Given the description of an element on the screen output the (x, y) to click on. 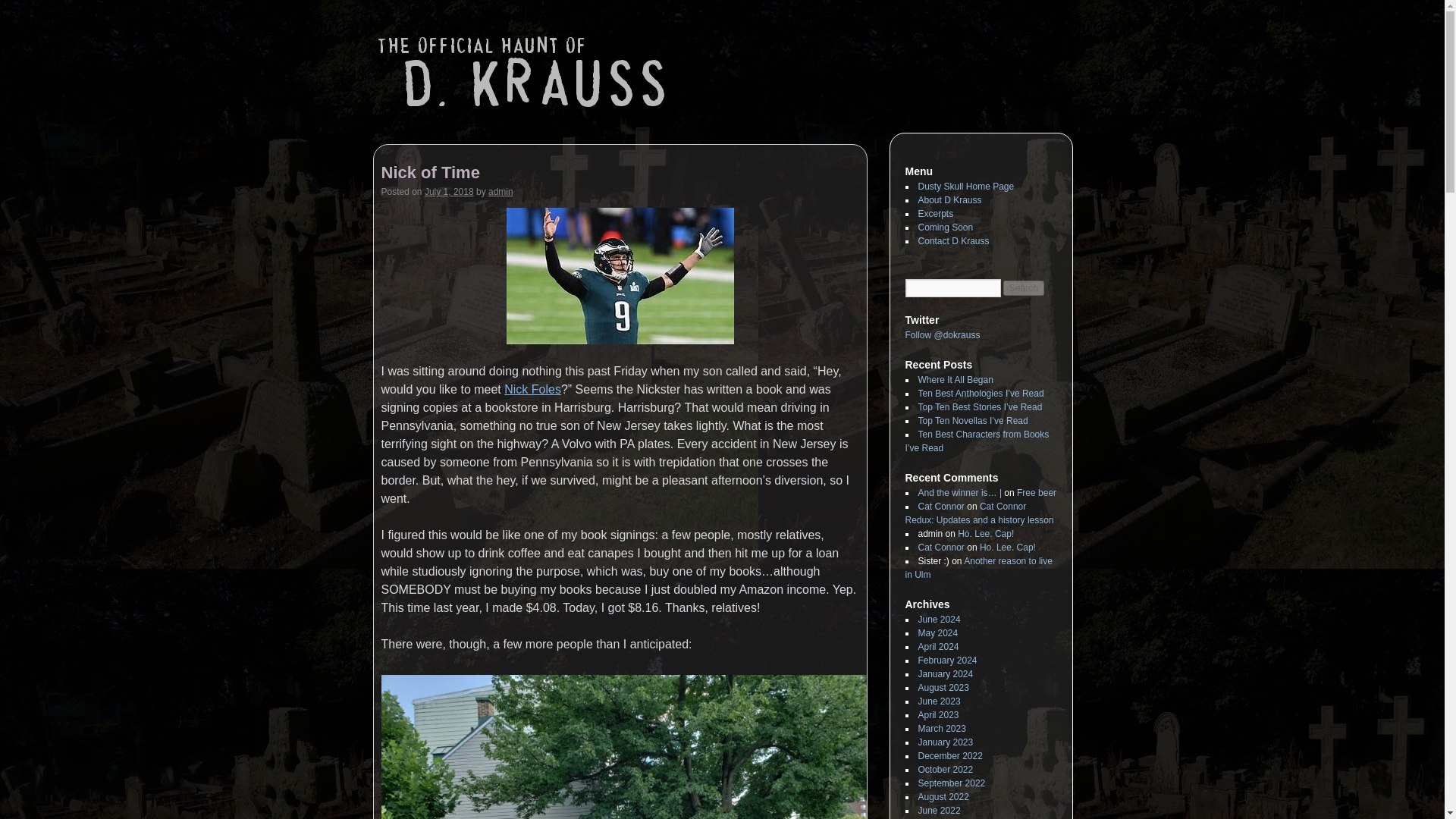
Coming Soon (944, 226)
Excerpts (935, 213)
11:25 pm (449, 191)
Search (1023, 287)
July 1, 2018 (449, 191)
Contact D Krauss (952, 240)
Search (1023, 287)
About D Krauss (949, 199)
Dusty Skull Home Page (965, 185)
admin (500, 191)
